Given the description of an element on the screen output the (x, y) to click on. 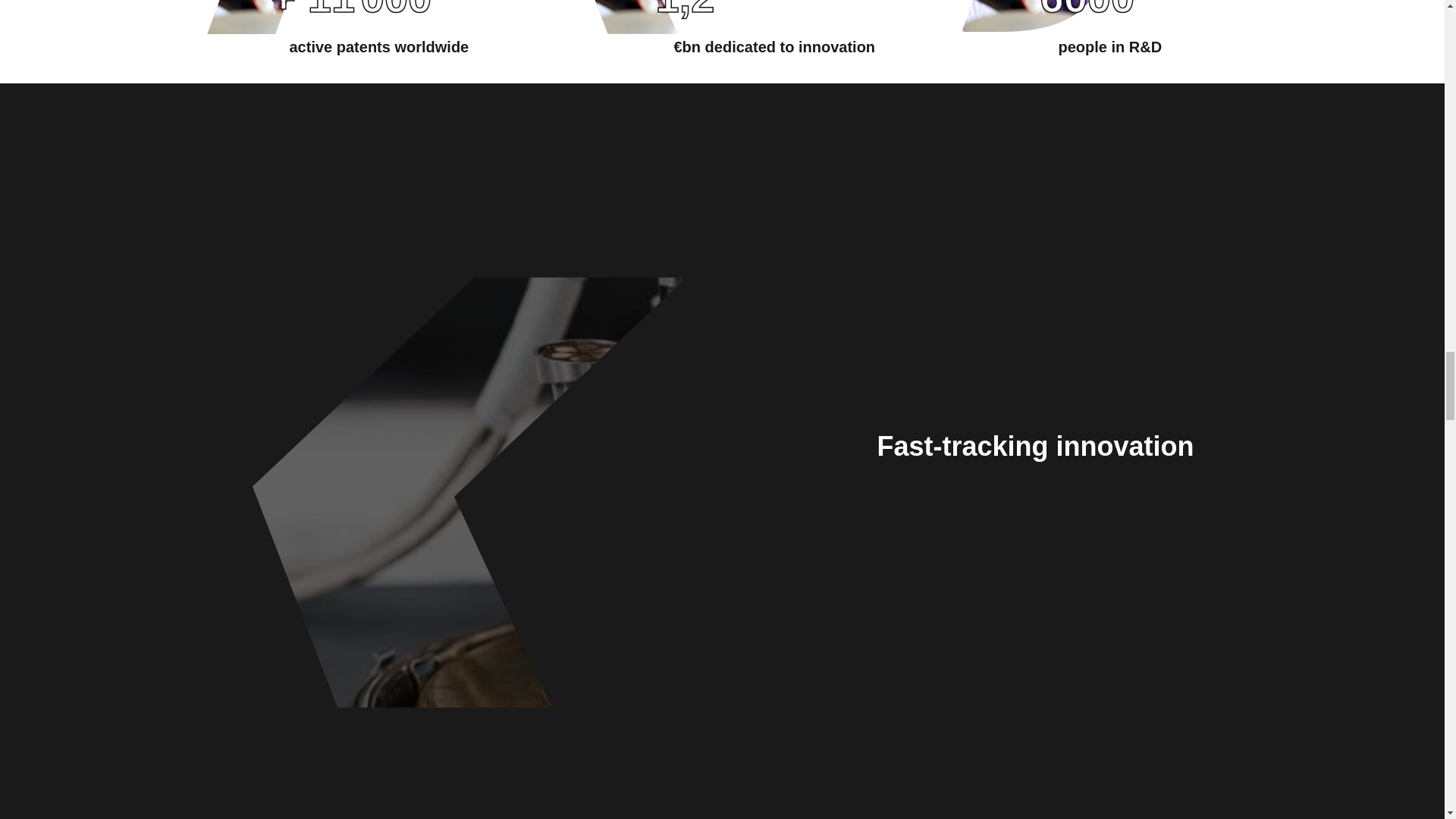
header openinno 2 (266, 16)
header openinno 2 (649, 16)
header openinno 2 (1034, 16)
